Given the description of an element on the screen output the (x, y) to click on. 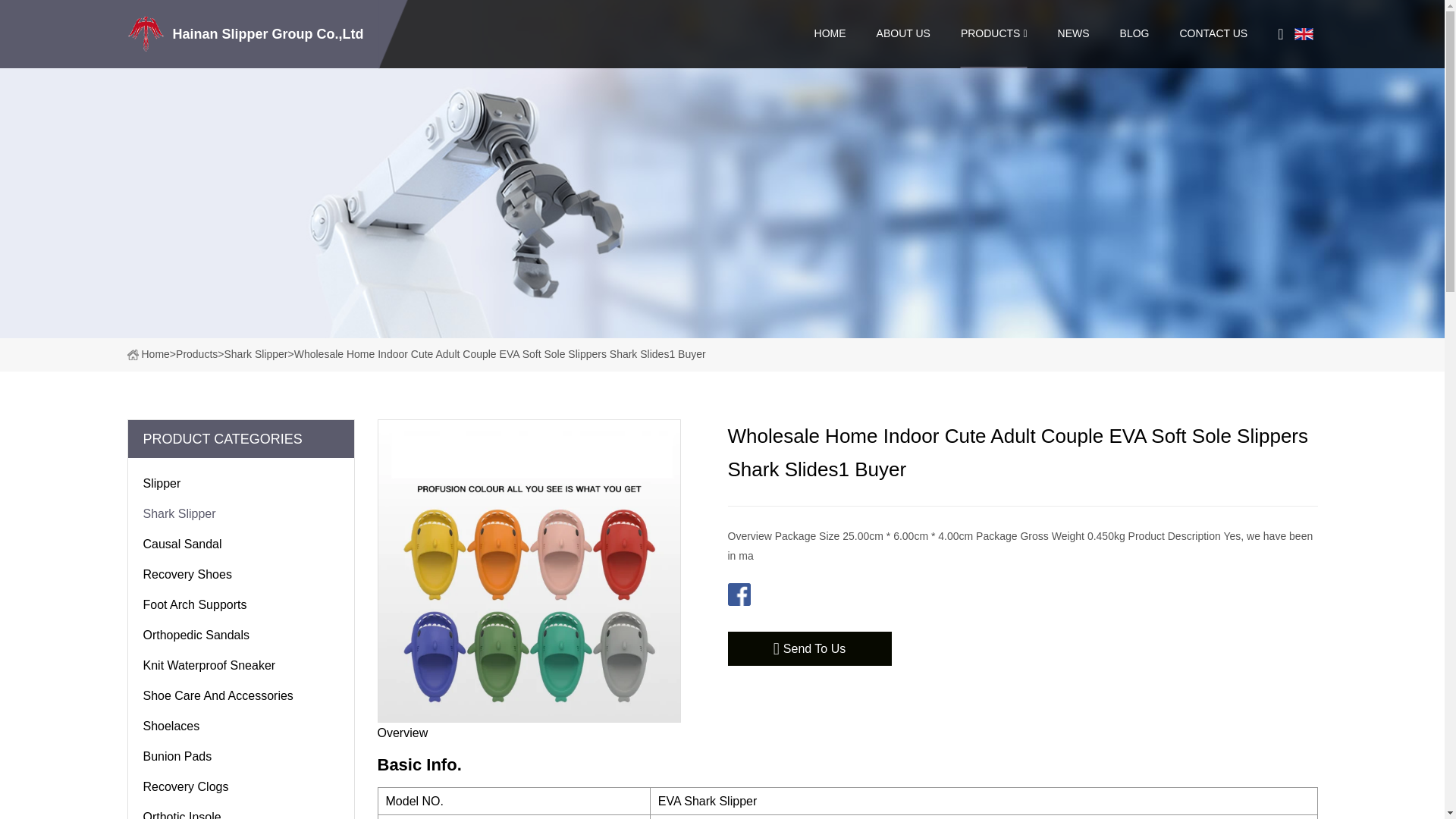
Knit Waterproof Sneaker (239, 662)
Pinterest (820, 594)
Home (149, 354)
CONTACT US (1213, 33)
Linkedin (794, 594)
Shark Slipper (239, 511)
Hainan Slipper Group Co.,Ltd (249, 33)
Shoelaces (239, 723)
Shark Slipper (255, 354)
Orthopedic Sandals (239, 632)
Facebook (739, 594)
Foot Arch Supports (239, 602)
Recovery Shoes (239, 571)
Hainan Slipper Group Co.,Ltd (249, 33)
Products (196, 354)
